Given the description of an element on the screen output the (x, y) to click on. 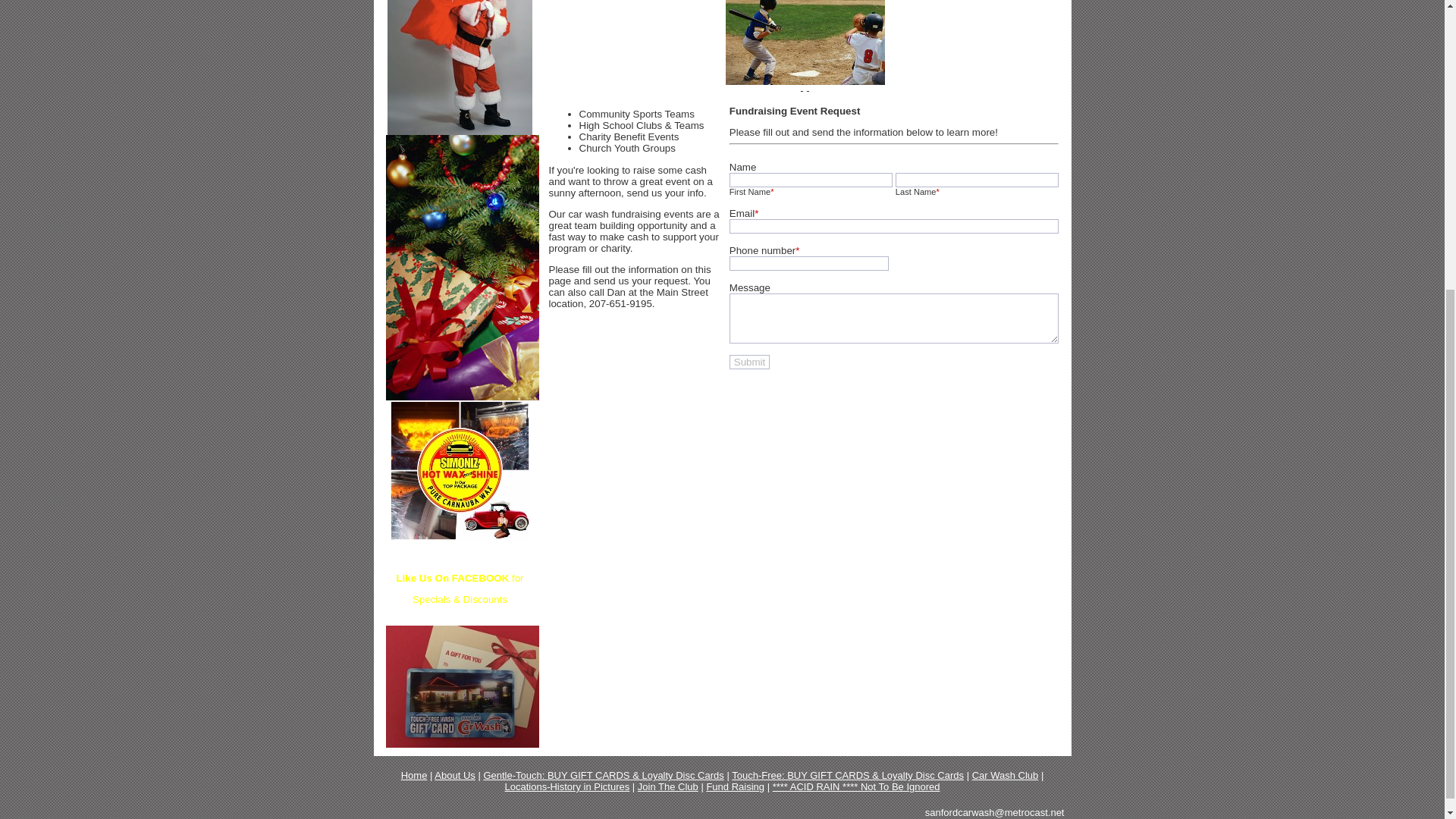
Car Wash Club (1005, 775)
Home (414, 775)
Submit (749, 361)
Fund Raising (735, 786)
About Us (453, 775)
Join The Club (667, 786)
Submit (749, 361)
Locations-History in Pictures (565, 786)
